Given the description of an element on the screen output the (x, y) to click on. 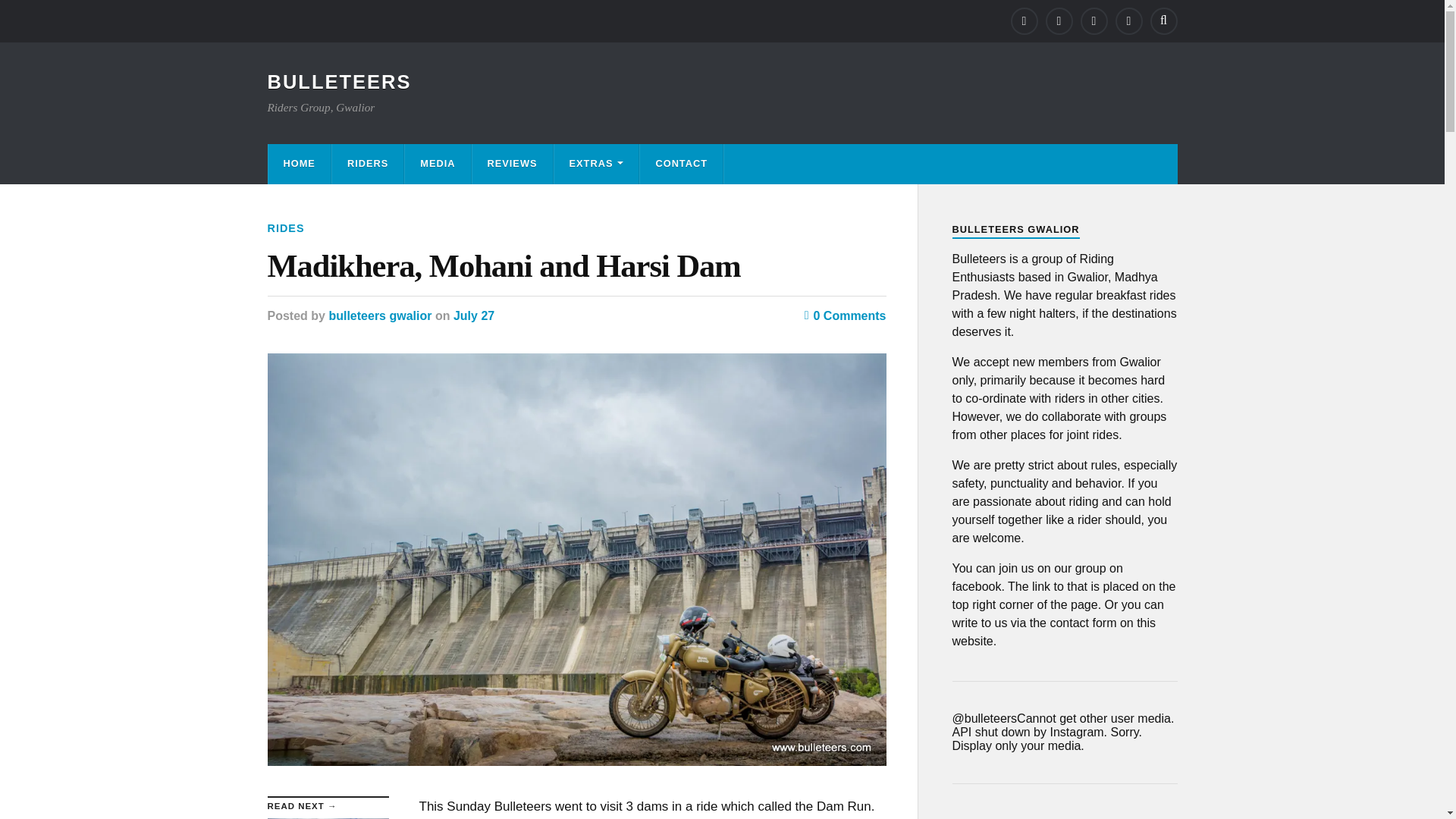
Madikhera, Mohani and Harsi Dam (575, 265)
bulleteers gwalior (379, 315)
Madikhera, Mohani and Harsi Dam (367, 164)
MEDIA (285, 227)
REVIEWS (437, 164)
EXTRAS (511, 164)
CONTACT (596, 164)
